Given the description of an element on the screen output the (x, y) to click on. 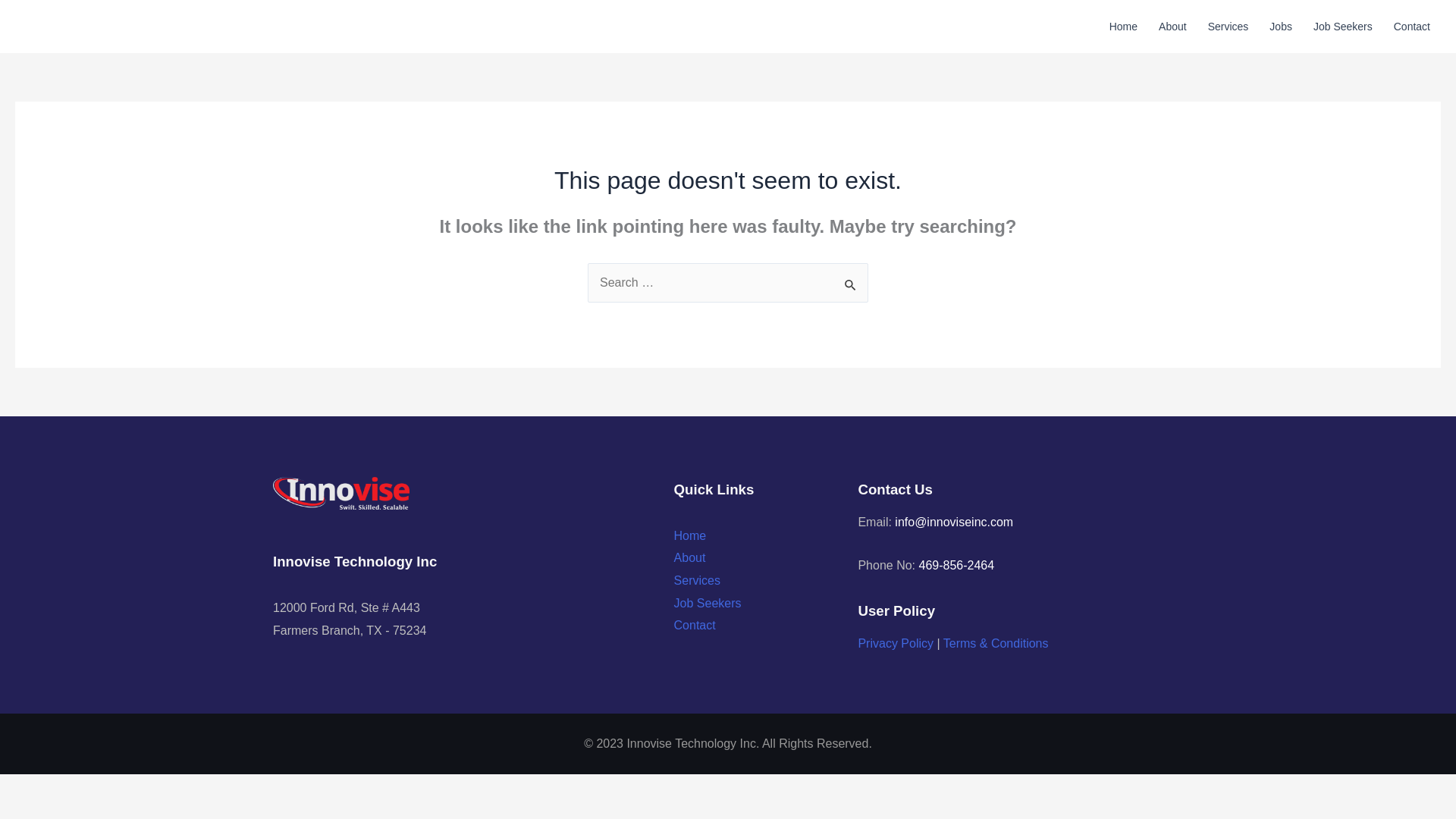
Services (1227, 26)
About (1172, 26)
Job Seekers (1343, 26)
Services (697, 580)
Privacy Policy (895, 643)
Contact (695, 625)
Job Seekers (707, 603)
Home (1123, 26)
Home (690, 535)
Contact (1412, 26)
